Given the description of an element on the screen output the (x, y) to click on. 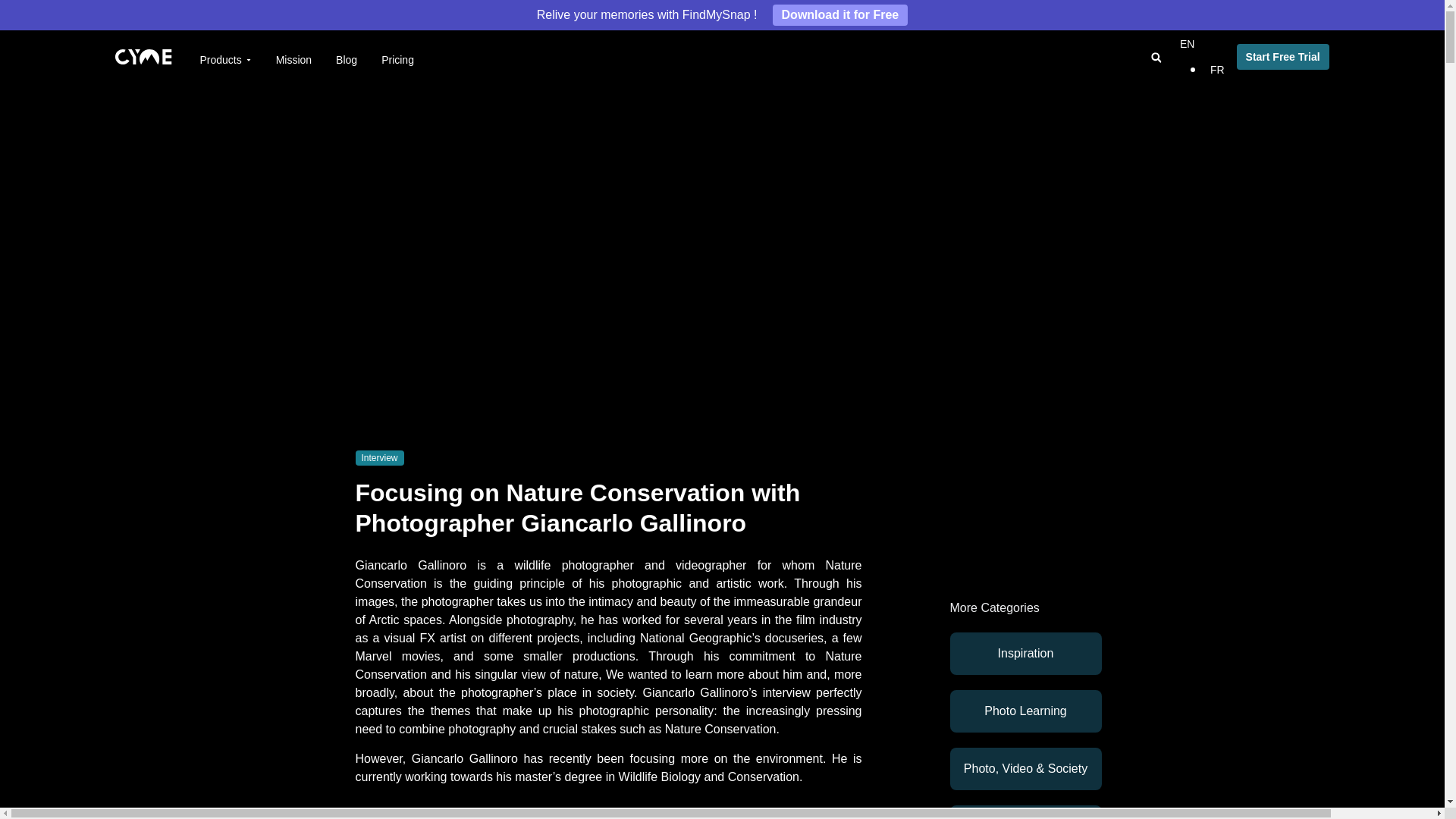
CYME News (1025, 812)
Pricing (397, 59)
Interview (379, 457)
Mission (293, 59)
Start Free Trial (1282, 56)
FR (1214, 69)
EN (1186, 43)
Blog (722, 15)
Photo Learning (346, 59)
